Given the description of an element on the screen output the (x, y) to click on. 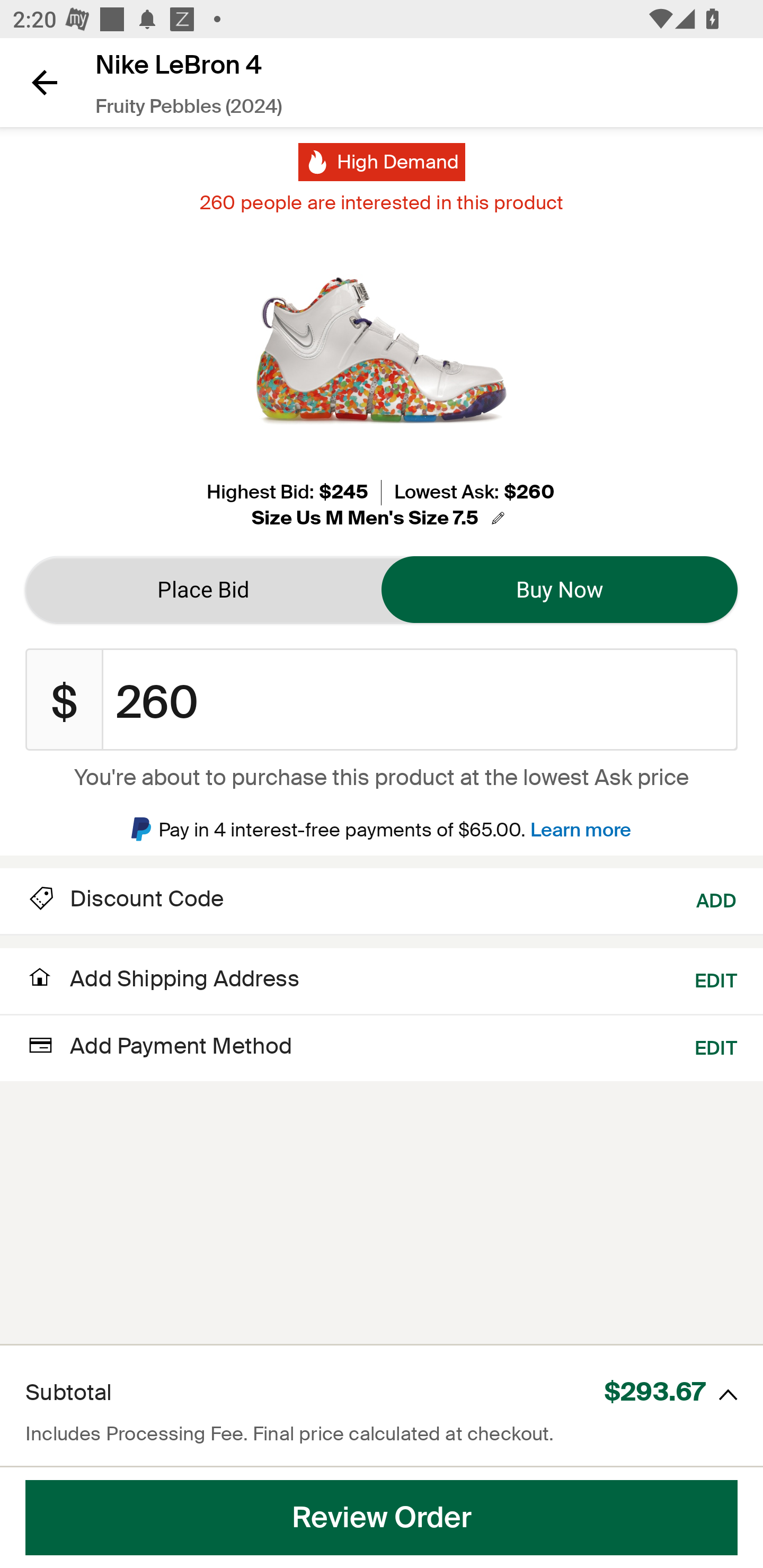
Navigate up (44, 82)
Sneaker Image (381, 350)
Size Us M Men's Size 7.5 An image (380, 517)
260 (420, 700)
Add Discount Code Discount Code (124, 899)
ADD (717, 899)
Edit Payment Icon Add Shipping Address (162, 983)
EDIT (716, 978)
Edit Payment Icon Add Payment Method (158, 1045)
EDIT (716, 1045)
Review Order (381, 1517)
